Given the description of an element on the screen output the (x, y) to click on. 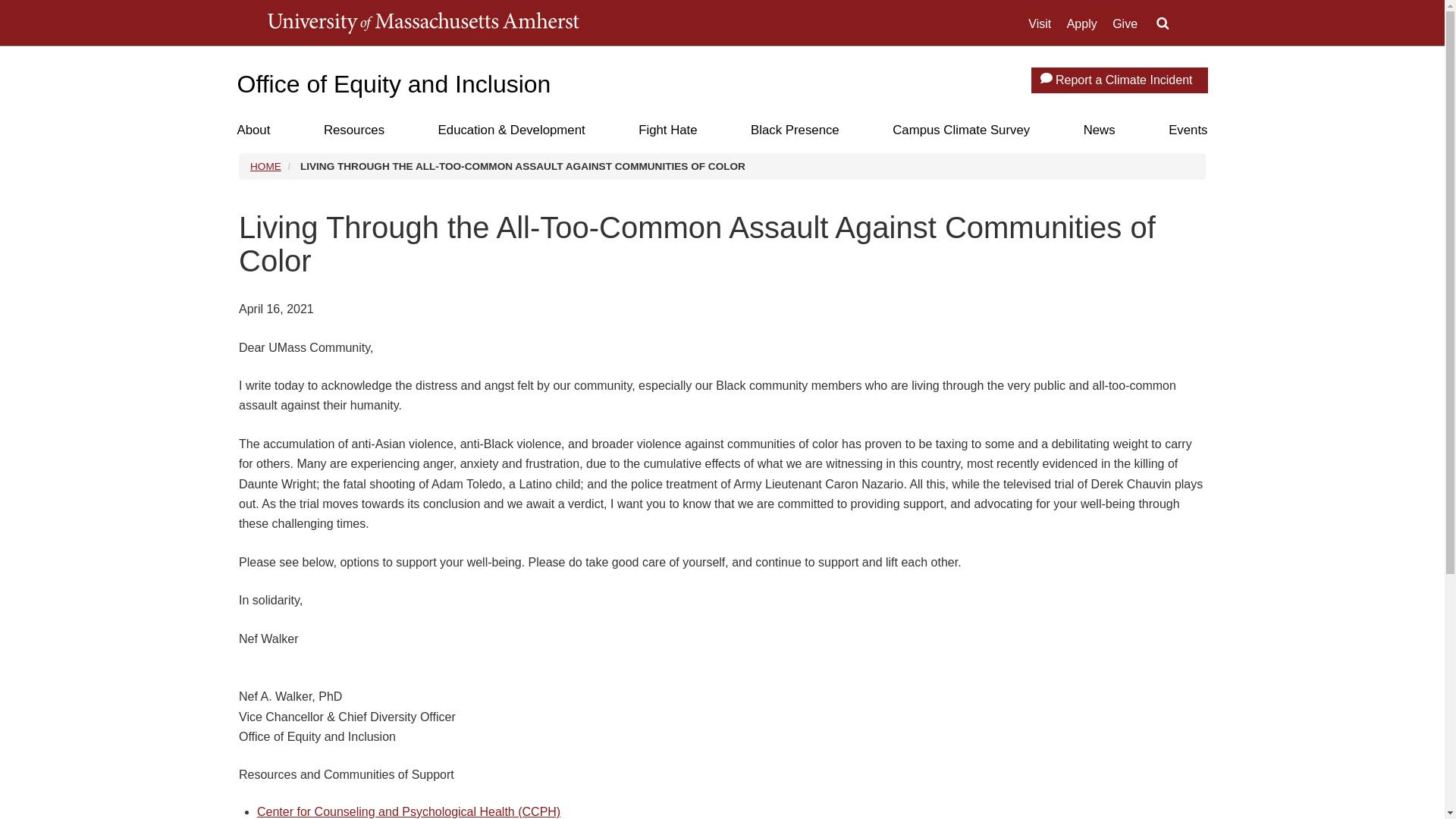
 Report a Climate Incident (1119, 80)
The University of Massachusetts Amherst (422, 22)
Search UMass.edu (1161, 23)
UMass Amherst (422, 22)
Events (1188, 130)
Fight Hate (668, 130)
Office of Equity and Inclusion (392, 83)
News (1099, 130)
Apply (1082, 24)
